Given the description of an element on the screen output the (x, y) to click on. 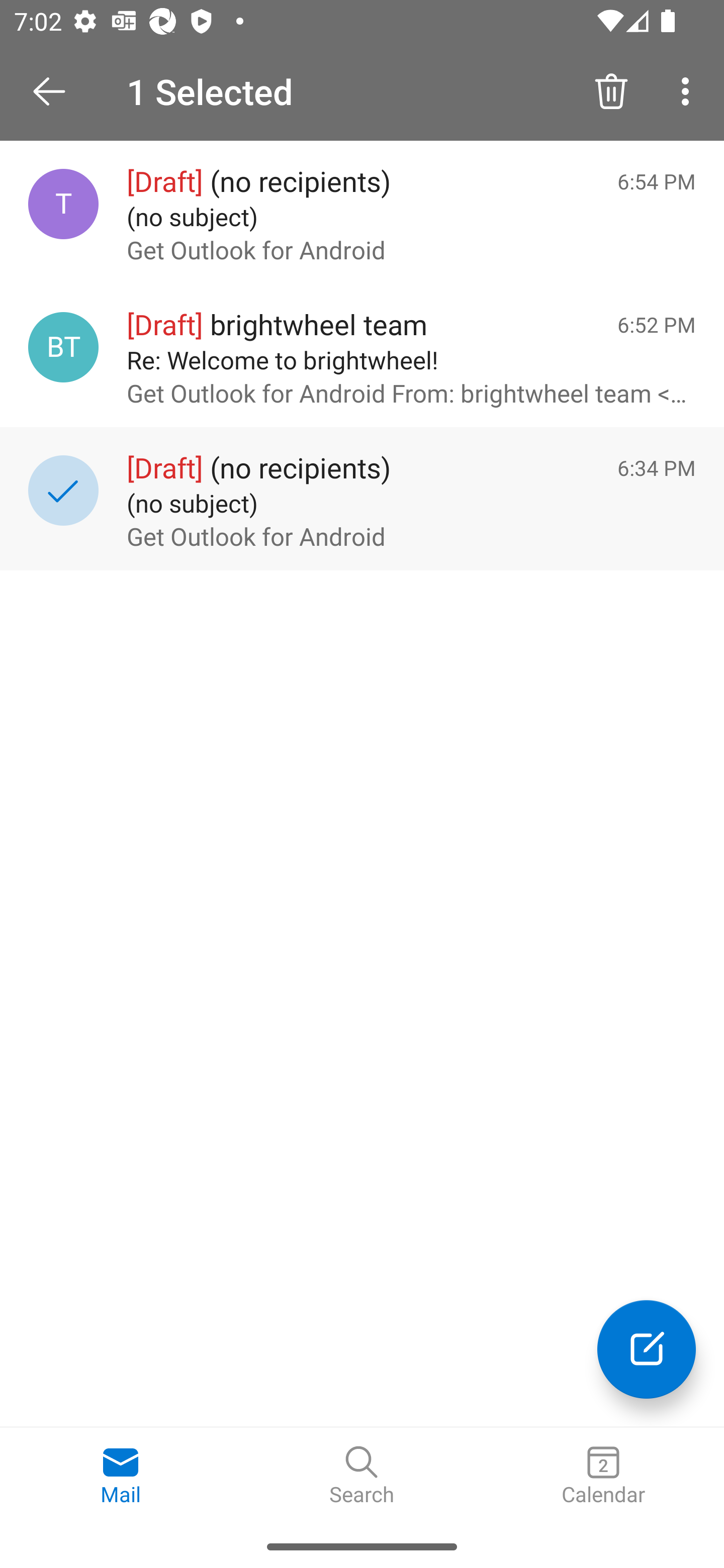
Delete (611, 90)
More options (688, 90)
Open Navigation Drawer (55, 91)
testappium001@outlook.com (63, 204)
brightwheel team, testappium001@outlook.com (63, 347)
Compose (646, 1348)
Search (361, 1475)
Calendar (603, 1475)
